Given the description of an element on the screen output the (x, y) to click on. 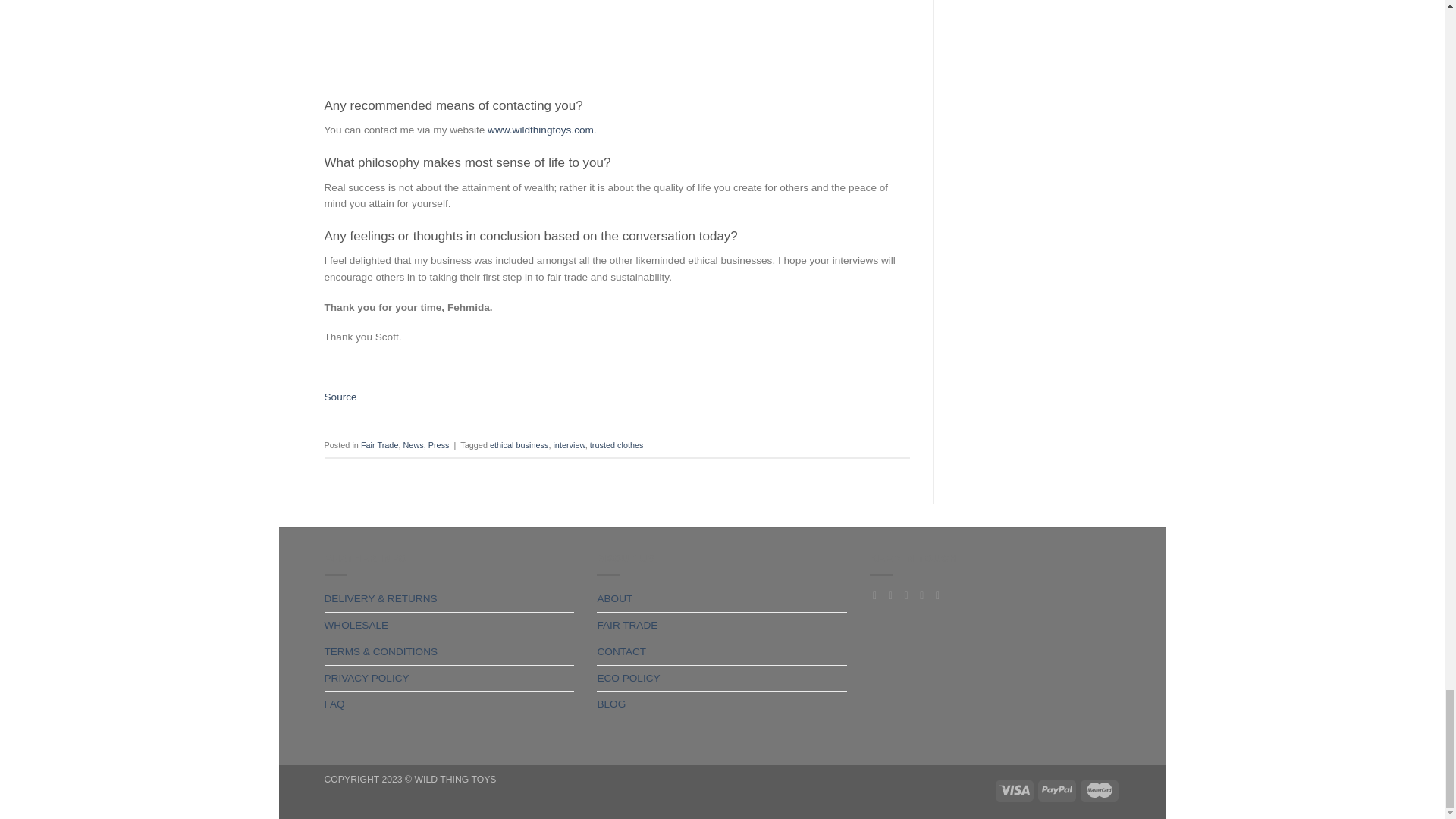
Follow on Facebook (877, 594)
